Given the description of an element on the screen output the (x, y) to click on. 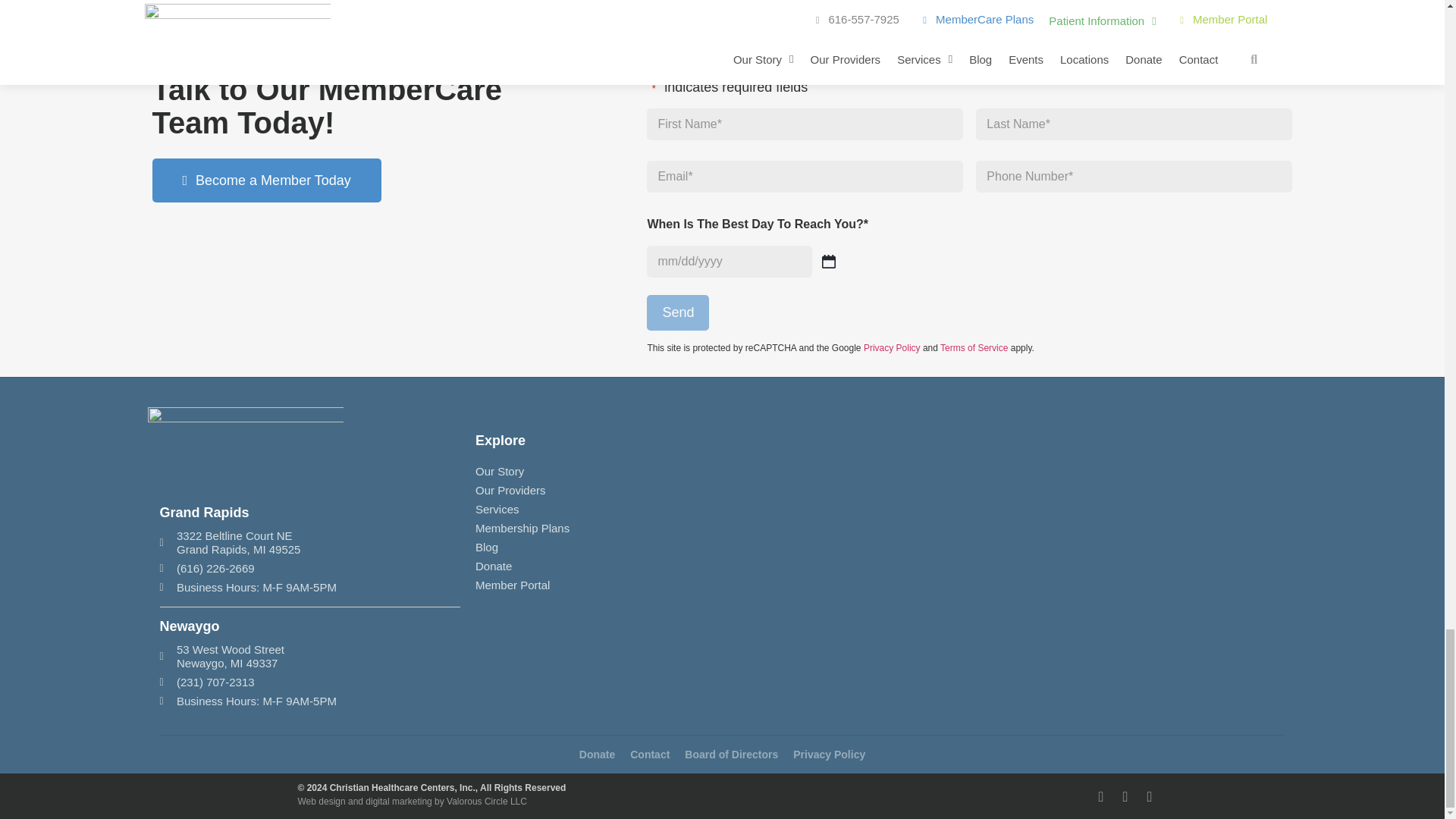
Send (677, 312)
Proven Successful Online Marketing (397, 801)
Grand Rapids Web Design (321, 801)
Select date (828, 261)
Grand Rapids Website Design (486, 801)
